Given the description of an element on the screen output the (x, y) to click on. 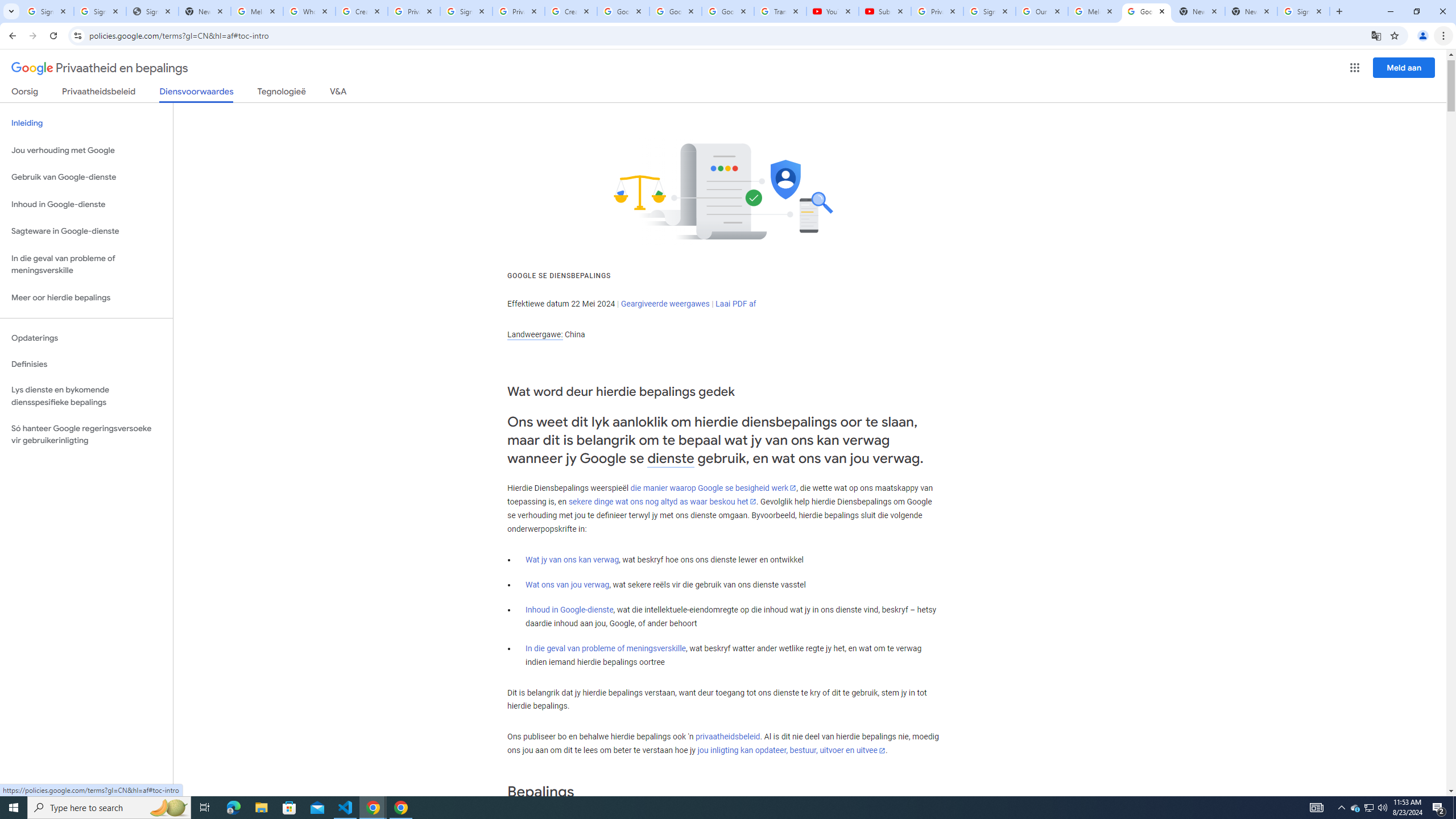
Privaatheid en bepalings (99, 68)
Subscriptions - YouTube (884, 11)
Laai PDF af (735, 303)
Create your Google Account (361, 11)
Diensvoorwaardes (196, 94)
V&A (337, 93)
Meer oor hierdie bepalings (86, 298)
Opdaterings (86, 338)
Oorsig (25, 93)
Lys dienste en bykomende diensspesifieke bepalings (86, 396)
